Given the description of an element on the screen output the (x, y) to click on. 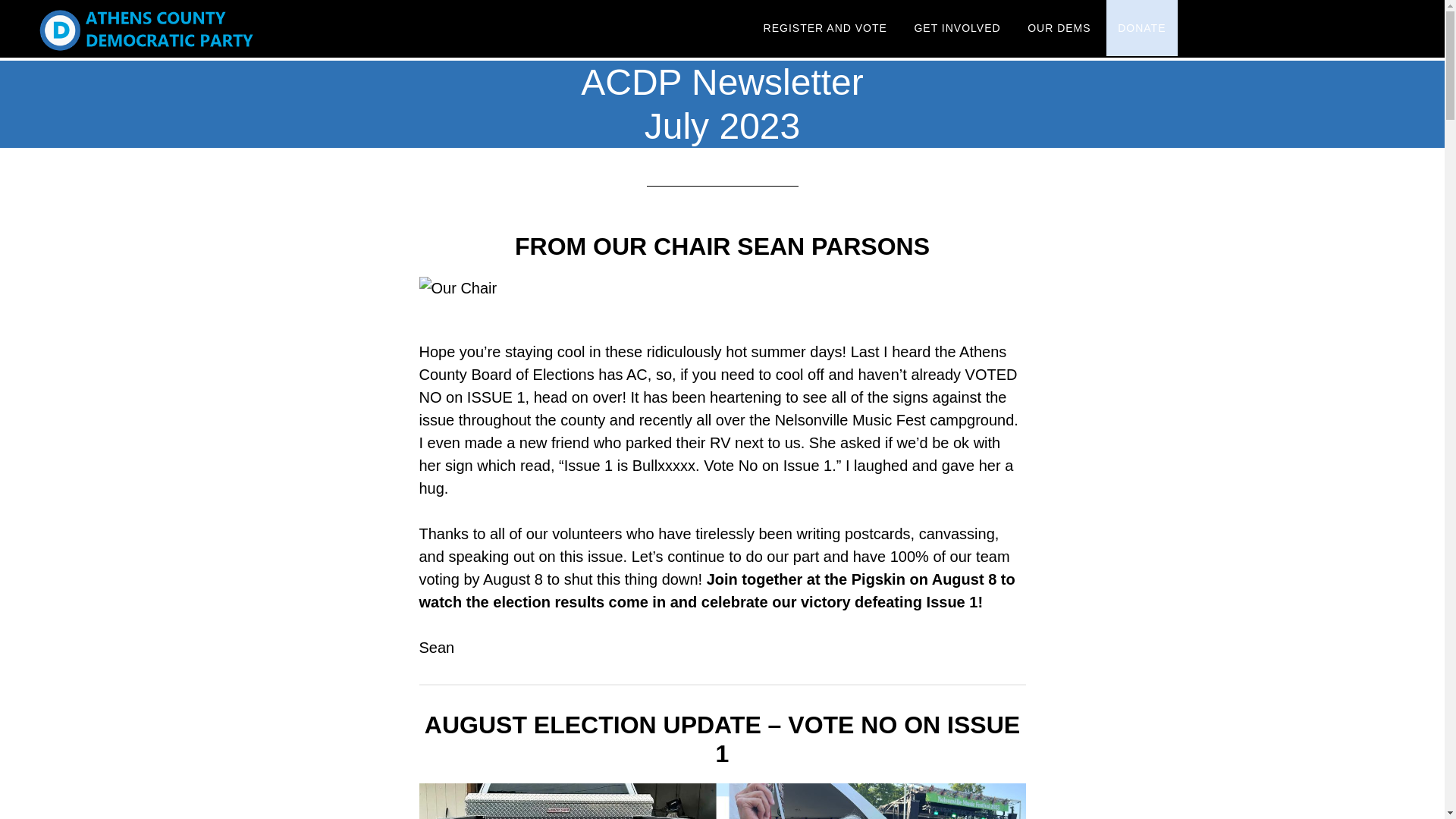
OUR DEMS (1059, 28)
GET INVOLVED (956, 28)
DONATE (1141, 28)
REGISTER AND VOTE (825, 28)
ATHENS COUNTY DEMOCRATIC PARTY (172, 28)
